Given the description of an element on the screen output the (x, y) to click on. 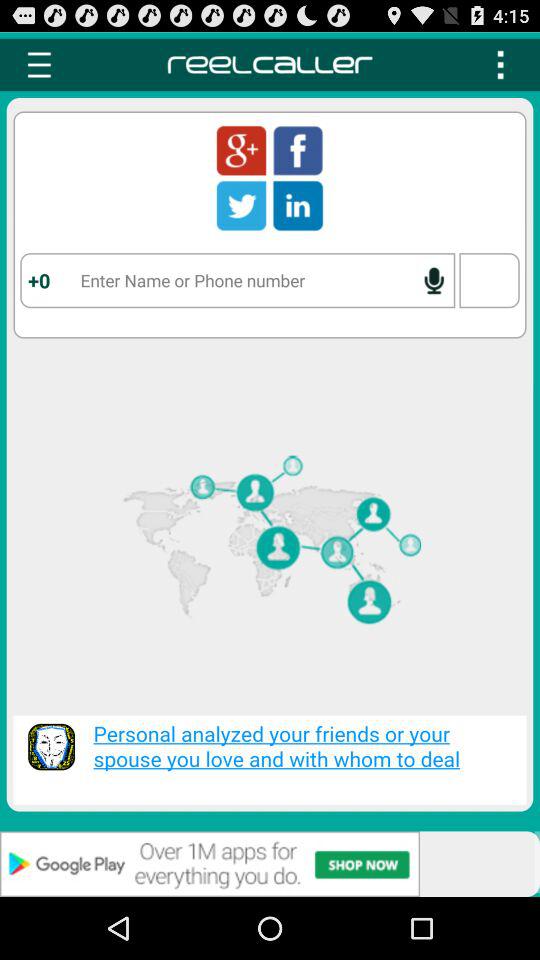
share on twitter (241, 205)
